Given the description of an element on the screen output the (x, y) to click on. 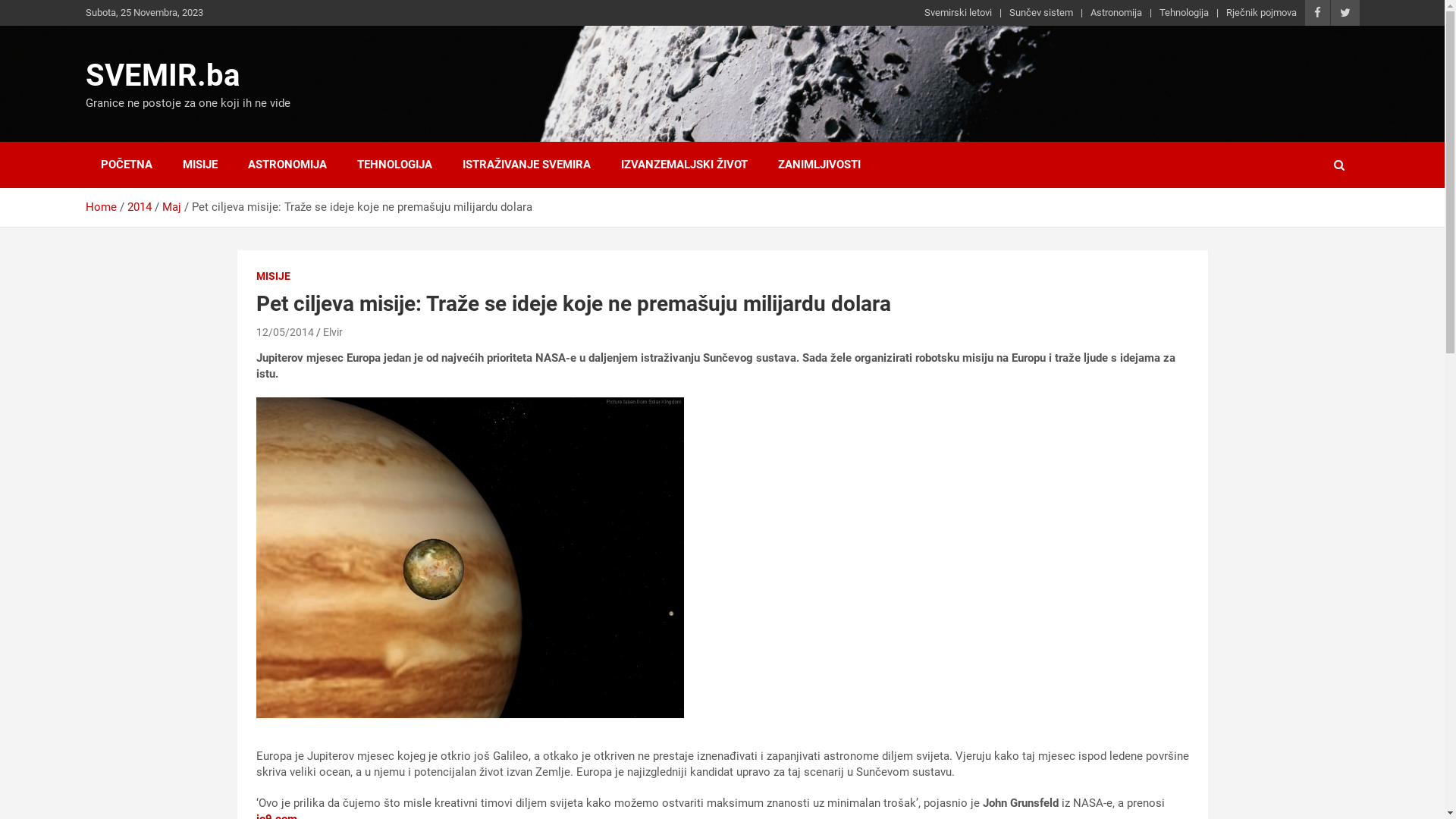
Svemirski letovi Element type: text (957, 12)
Tehnologija Element type: text (1183, 12)
Home Element type: text (100, 206)
Jupiter, Io, Europa Element type: hover (470, 557)
TEHNOLOGIJA Element type: text (393, 164)
Elvir Element type: text (332, 332)
ZANIMLJIVOSTI Element type: text (818, 164)
MISIJE Element type: text (199, 164)
SVEMIR.ba Element type: text (161, 75)
Astronomija Element type: text (1116, 12)
ASTRONOMIJA Element type: text (286, 164)
MISIJE Element type: text (273, 276)
12/05/2014 Element type: text (284, 332)
Maj Element type: text (171, 206)
2014 Element type: text (139, 206)
